Given the description of an element on the screen output the (x, y) to click on. 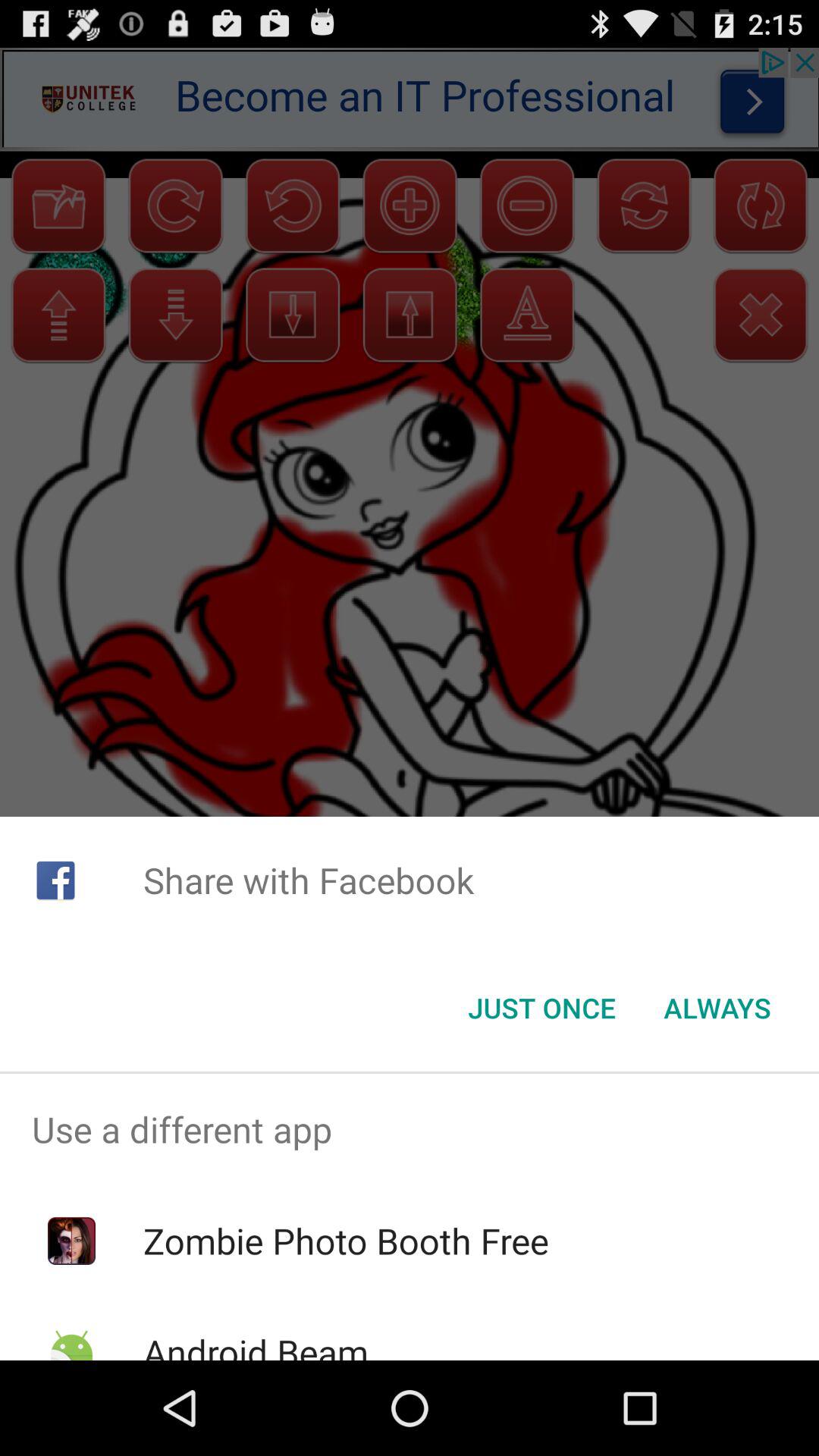
select the icon below share with facebook app (717, 1007)
